Given the description of an element on the screen output the (x, y) to click on. 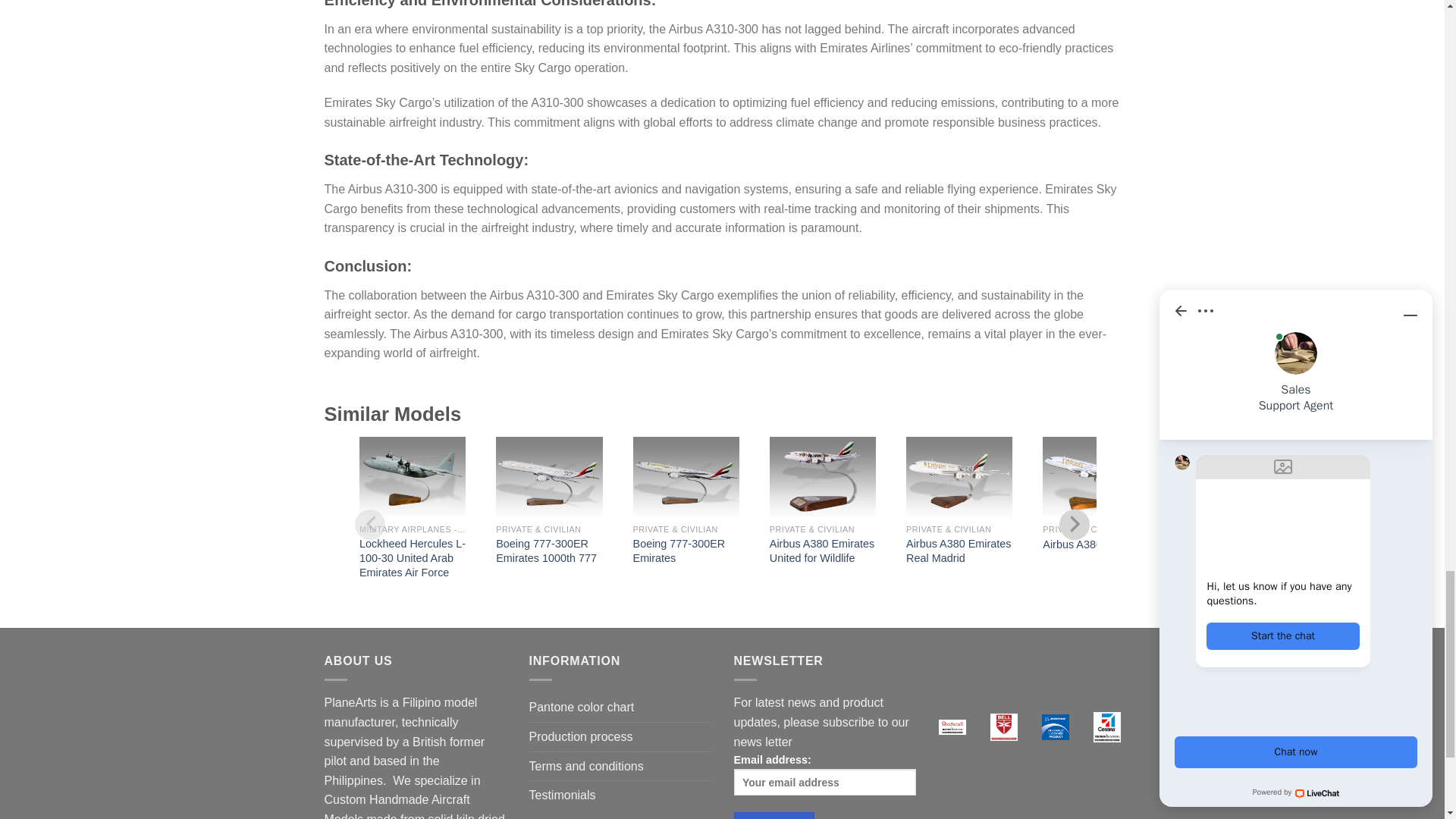
Sign up (773, 815)
